Given the description of an element on the screen output the (x, y) to click on. 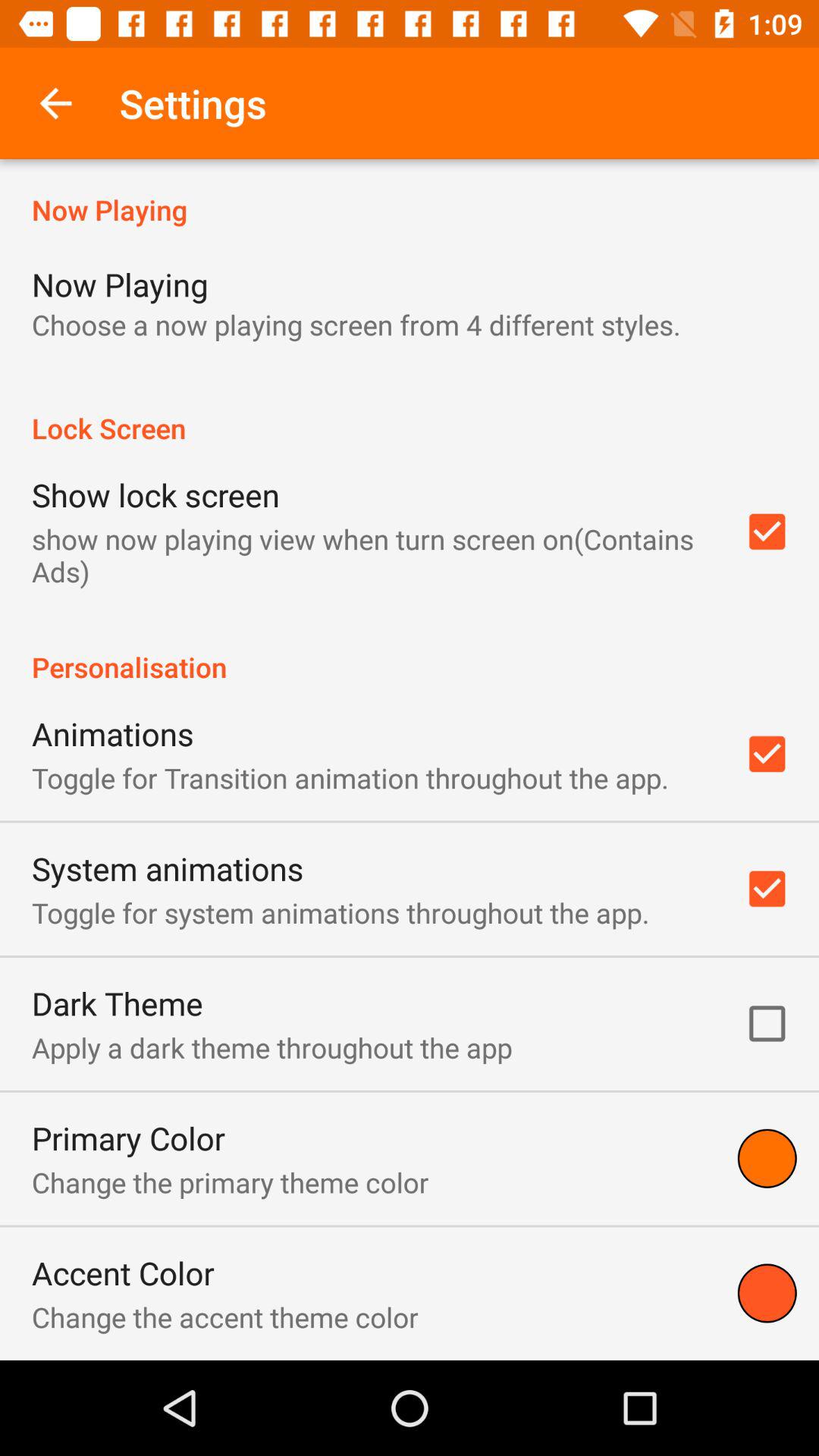
swipe to the choose a now item (355, 324)
